Given the description of an element on the screen output the (x, y) to click on. 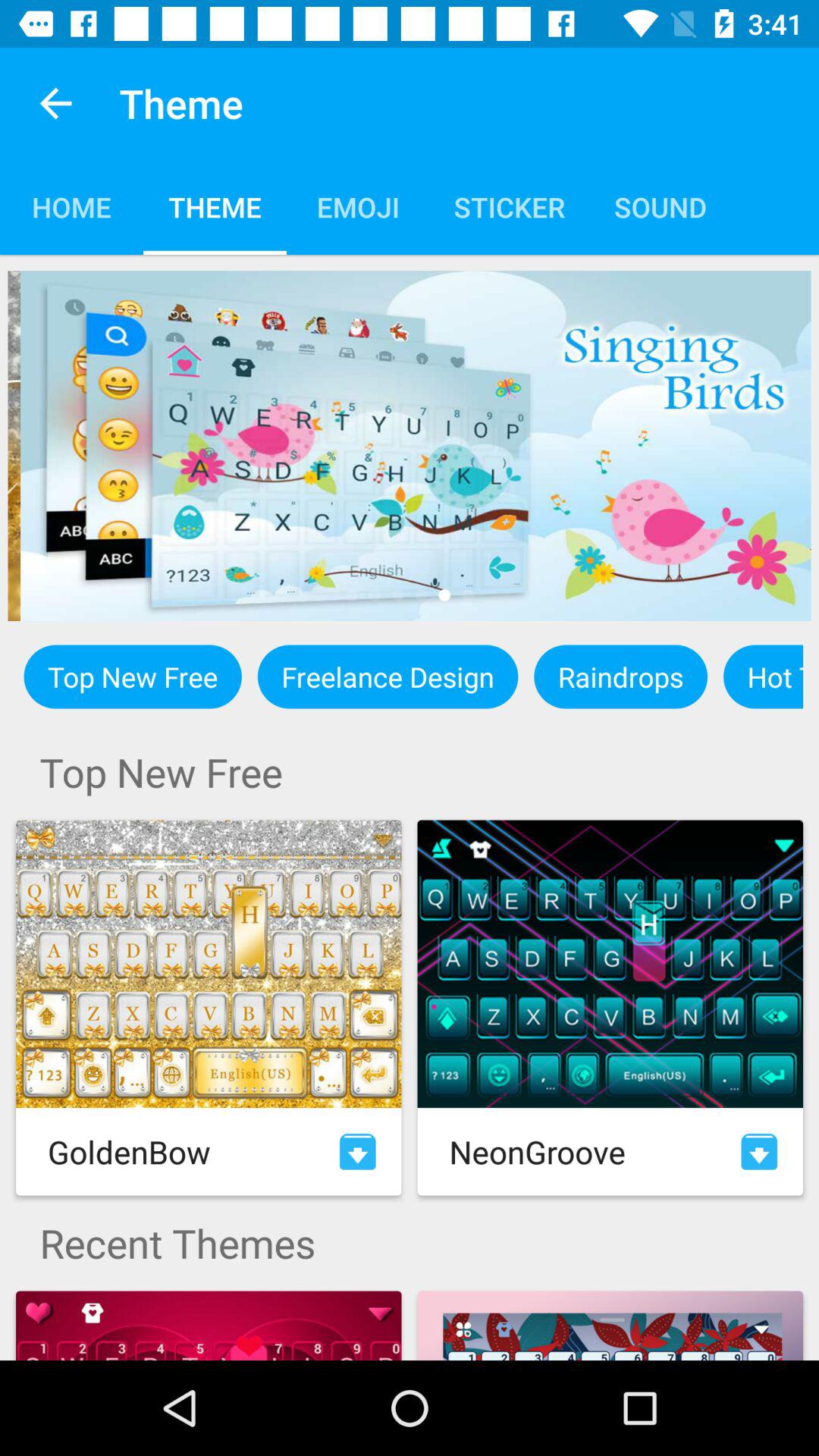
turn off icon above home (55, 103)
